Given the description of an element on the screen output the (x, y) to click on. 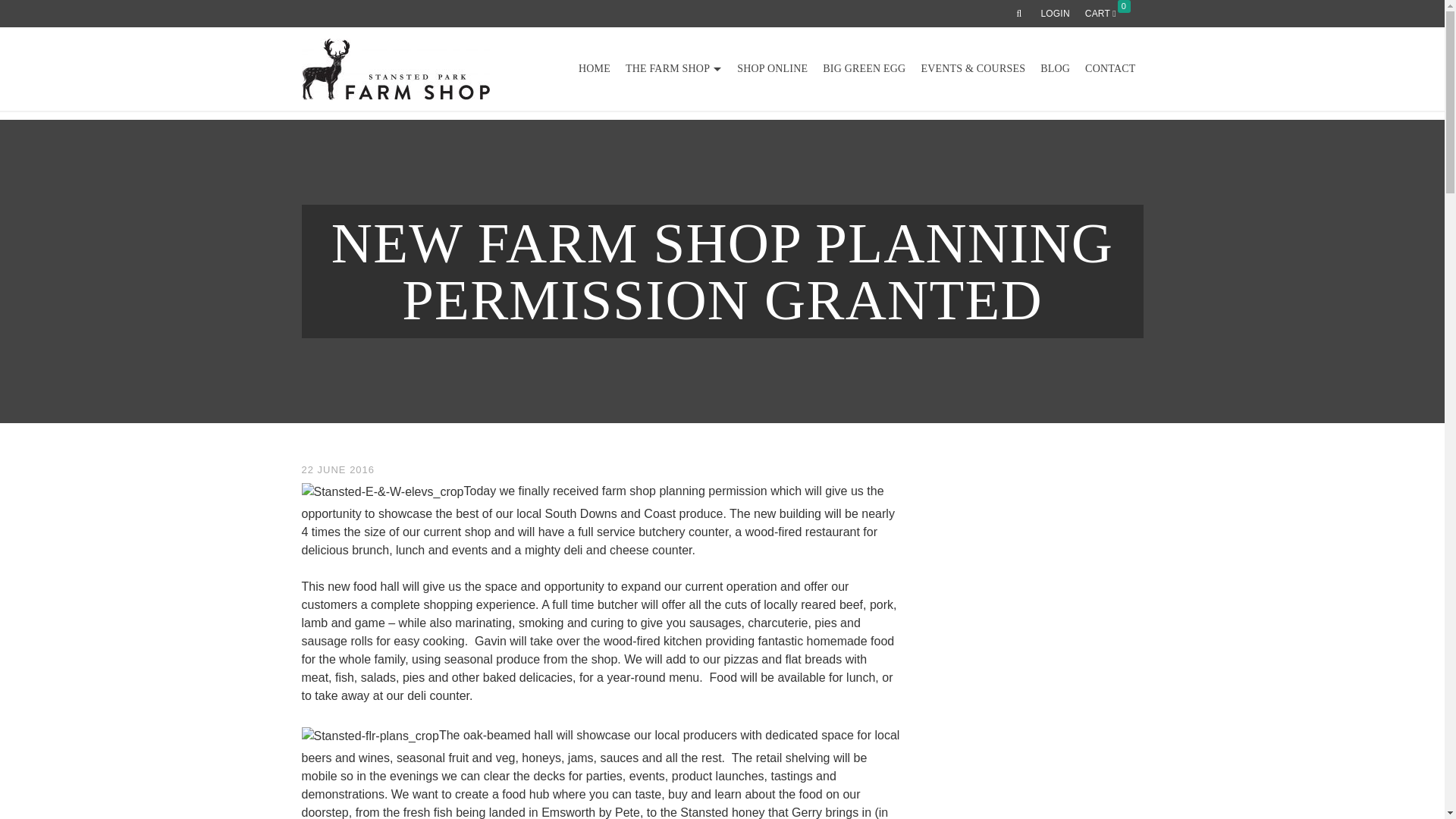
HOME (593, 68)
SHOP ONLINE (772, 68)
BLOG (1054, 68)
THE FARM SHOP (673, 68)
CONTACT (1109, 68)
CART 0 (1109, 13)
LOGIN (1054, 13)
BIG GREEN EGG (863, 68)
